Given the description of an element on the screen output the (x, y) to click on. 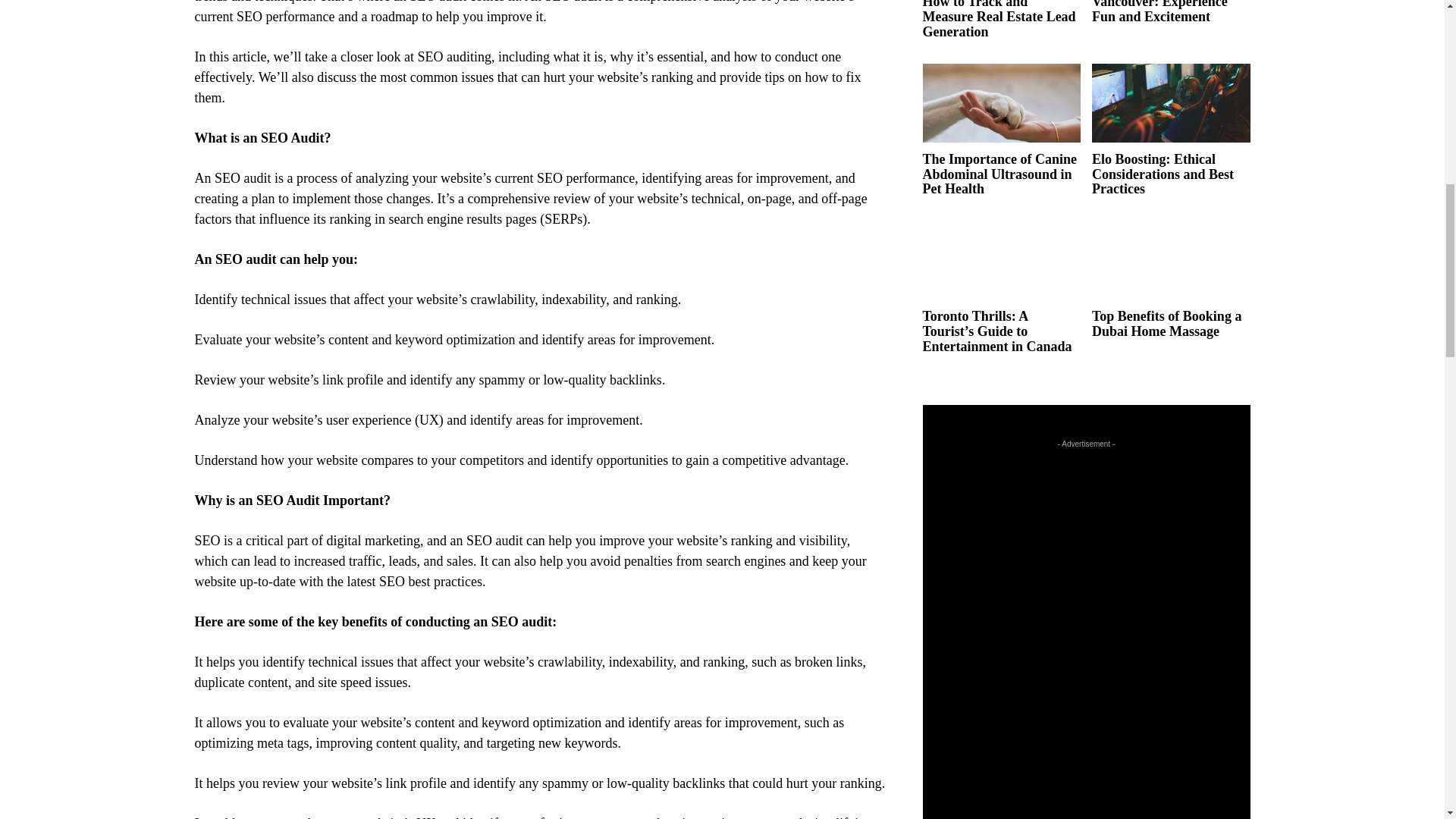
Vancouver: Experience Fun and Excitement (1159, 12)
How to Track and Measure Real Estate Lead Generation (998, 19)
How to Track and Measure Real Estate Lead Generation (998, 19)
